Given the description of an element on the screen output the (x, y) to click on. 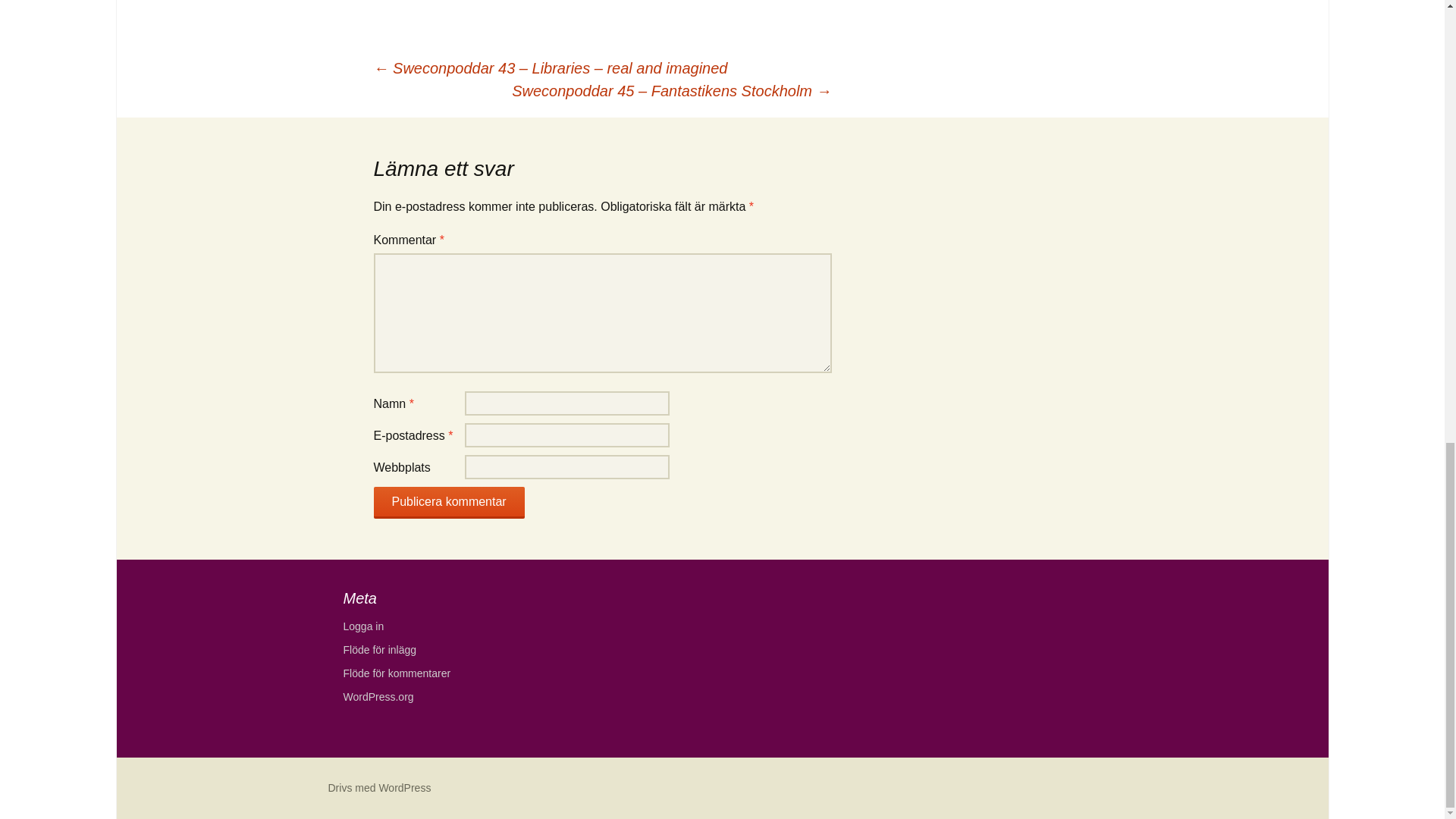
Publicera kommentar (448, 502)
Publicera kommentar (448, 502)
